Given the description of an element on the screen output the (x, y) to click on. 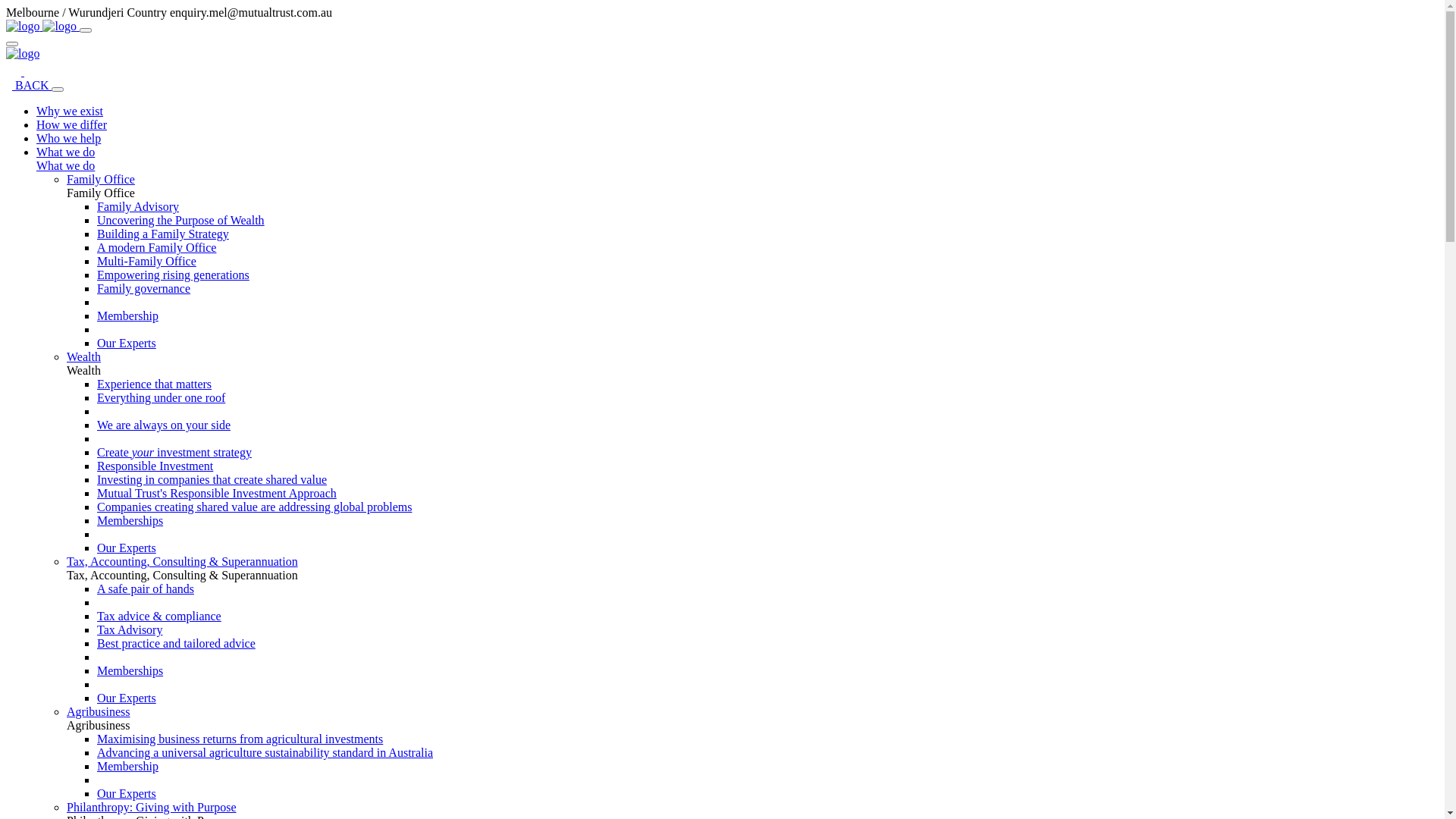
Family governance Element type: text (143, 288)
BACK Element type: text (28, 84)
Create your investment strategy Element type: text (174, 451)
Building a Family Strategy Element type: text (163, 233)
Tax, Accounting, Consulting & Superannuation Element type: text (182, 561)
Our Experts Element type: text (126, 342)
Our Experts Element type: text (126, 697)
Memberships Element type: text (130, 520)
Memberships Element type: text (130, 670)
A modern Family Office Element type: text (156, 247)
Philanthropy: Giving with Purpose Element type: text (151, 806)
Tax advice & compliance Element type: text (159, 615)
Responsible Investment Element type: text (155, 465)
Empowering rising generations Element type: text (173, 274)
Agribusiness Element type: text (98, 711)
Everything under one roof Element type: text (161, 397)
Maximising business returns from agricultural investments Element type: text (239, 738)
Our Experts Element type: text (126, 547)
Experience that matters Element type: text (154, 383)
Uncovering the Purpose of Wealth Element type: text (180, 219)
Our Experts Element type: text (126, 793)
What we do Element type: text (65, 165)
Membership Element type: text (127, 765)
Best practice and tailored advice Element type: text (176, 643)
Mutual Trust's Responsible Investment Approach Element type: text (216, 492)
What we do Element type: text (65, 151)
Family Advisory Element type: text (137, 206)
Multi-Family Office Element type: text (146, 260)
Who we help Element type: text (68, 137)
Why we exist Element type: text (69, 110)
Tax Advisory Element type: text (129, 629)
Family Office Element type: text (100, 178)
How we differ Element type: text (71, 124)
Wealth Element type: text (83, 356)
A safe pair of hands Element type: text (145, 588)
Membership Element type: text (127, 315)
We are always on your side Element type: text (163, 424)
Investing in companies that create shared value Element type: text (211, 479)
